Given the description of an element on the screen output the (x, y) to click on. 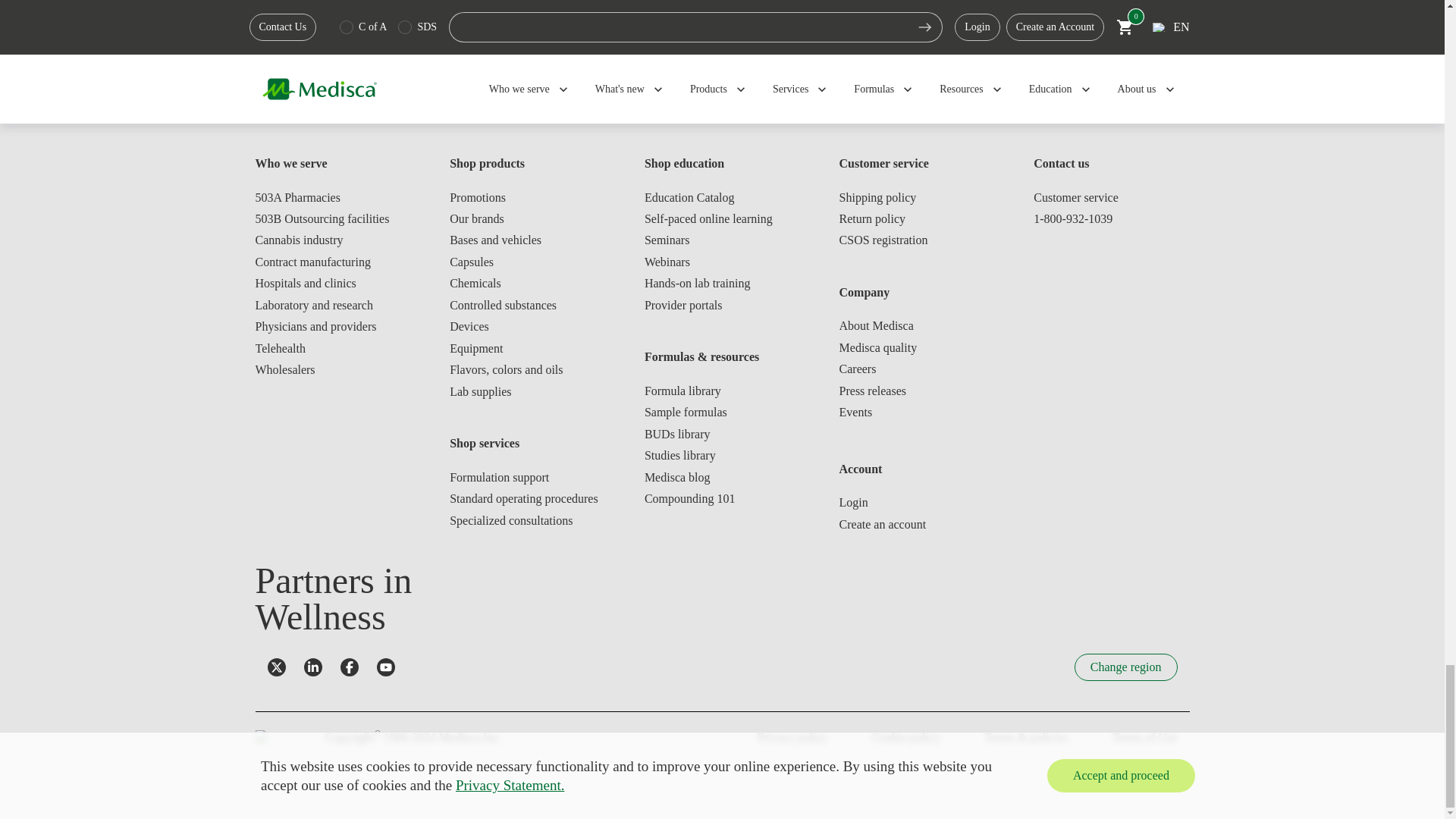
Telehealth (332, 348)
Hospitals and clinics (332, 283)
Contract manufacturing (332, 262)
503B Outsourcing facilities (332, 218)
503A Pharmacies (332, 197)
Wholesalers (332, 369)
Physicians and providers (332, 326)
Cannabis industry (332, 240)
Laboratory and research (332, 305)
